Given the description of an element on the screen output the (x, y) to click on. 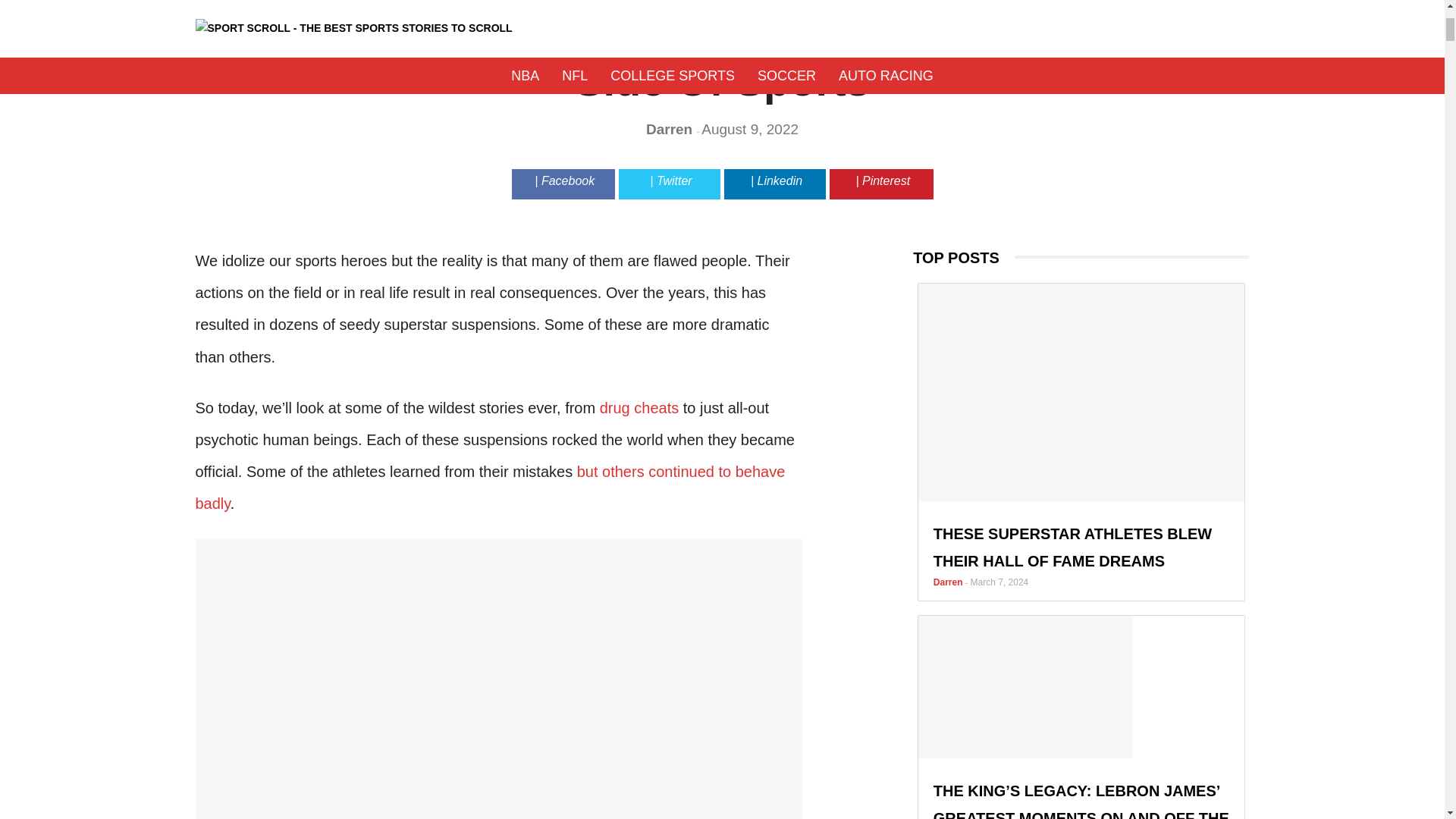
Darren (671, 129)
but others continued to behave badly (490, 487)
drug cheats (639, 407)
